Given the description of an element on the screen output the (x, y) to click on. 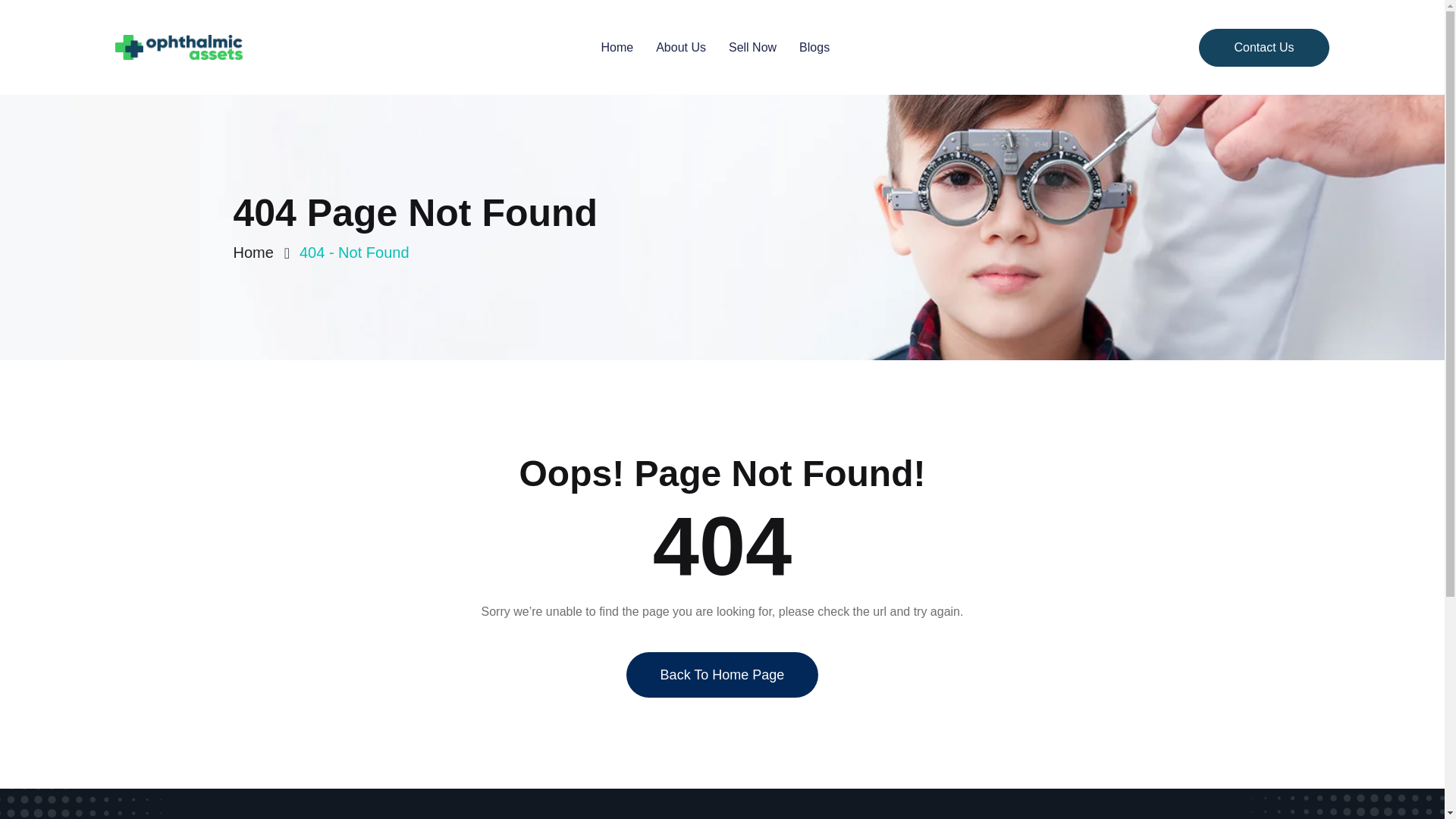
Home   (257, 252)
Contact Us (1262, 47)
Home (616, 47)
About Us (681, 47)
Back To Home Page (722, 710)
Sell Now (752, 47)
Blogs (814, 47)
